Given the description of an element on the screen output the (x, y) to click on. 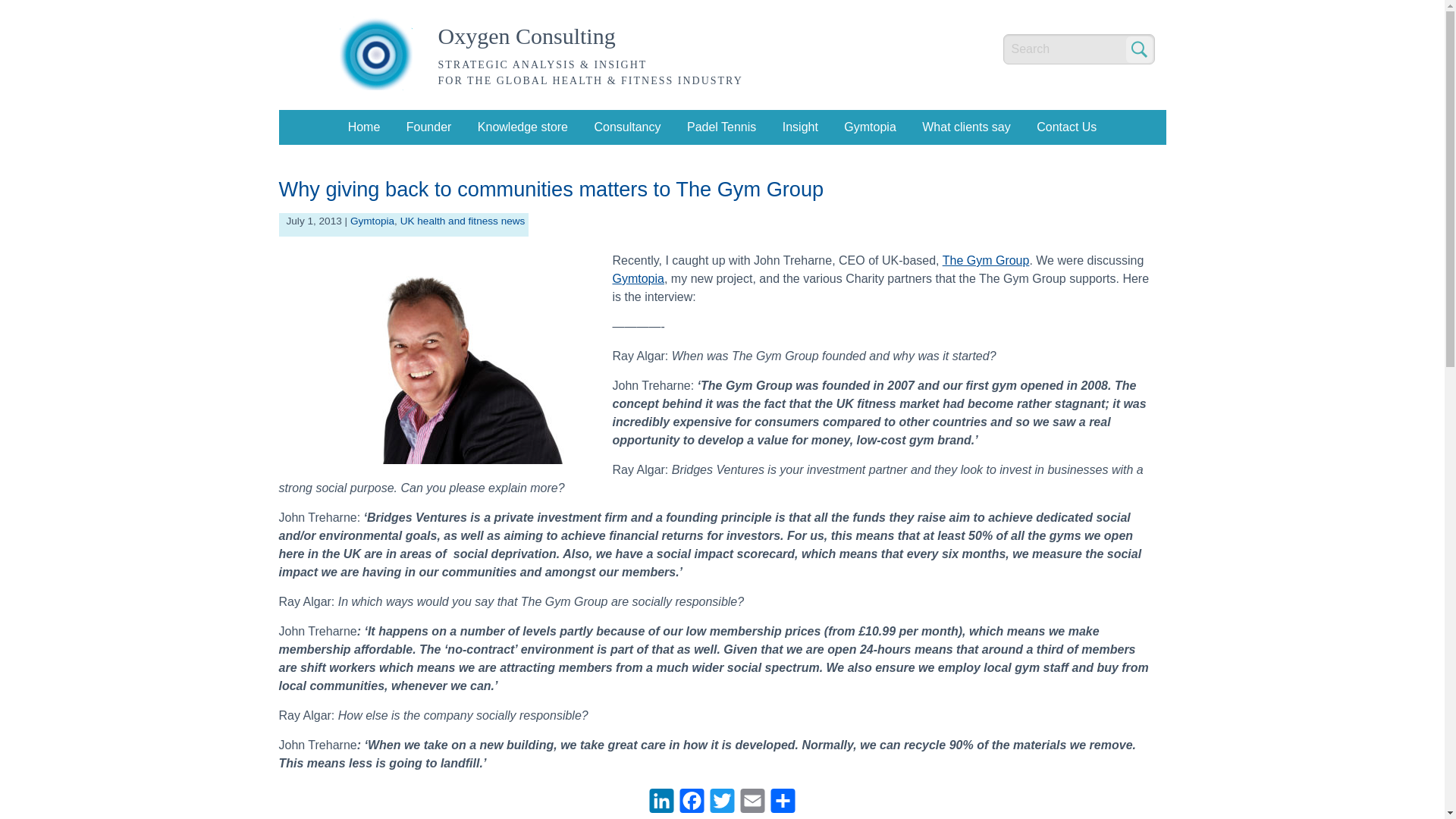
UK health and fitness news (462, 220)
Gymtopia (372, 220)
Facebook (691, 800)
Gymtopia (637, 278)
Email (751, 800)
Email (751, 800)
Gymtopia (869, 127)
Facebook (691, 800)
The Gym Group (985, 259)
What clients say (965, 127)
